Given the description of an element on the screen output the (x, y) to click on. 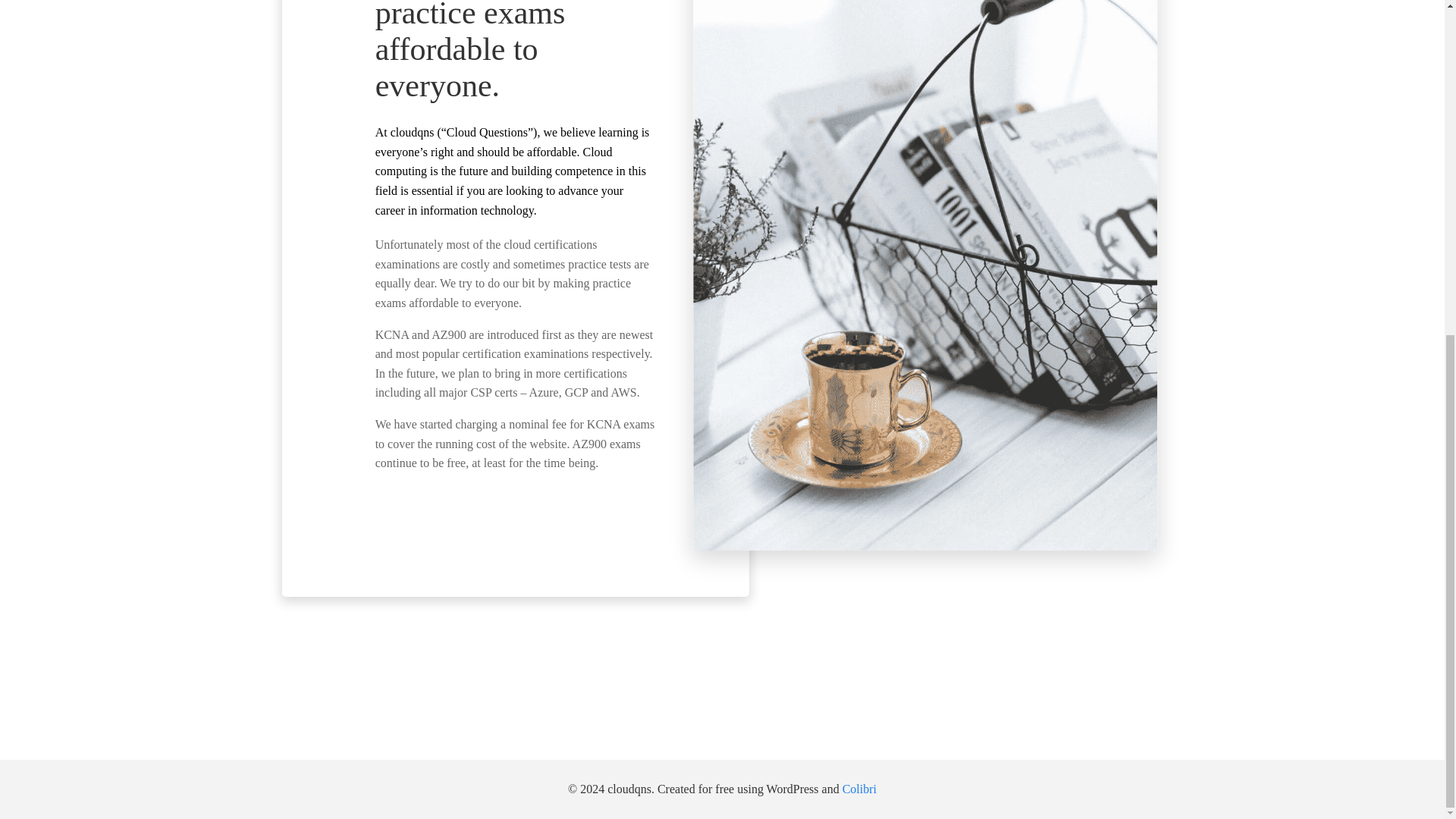
Colibri (859, 788)
